Given the description of an element on the screen output the (x, y) to click on. 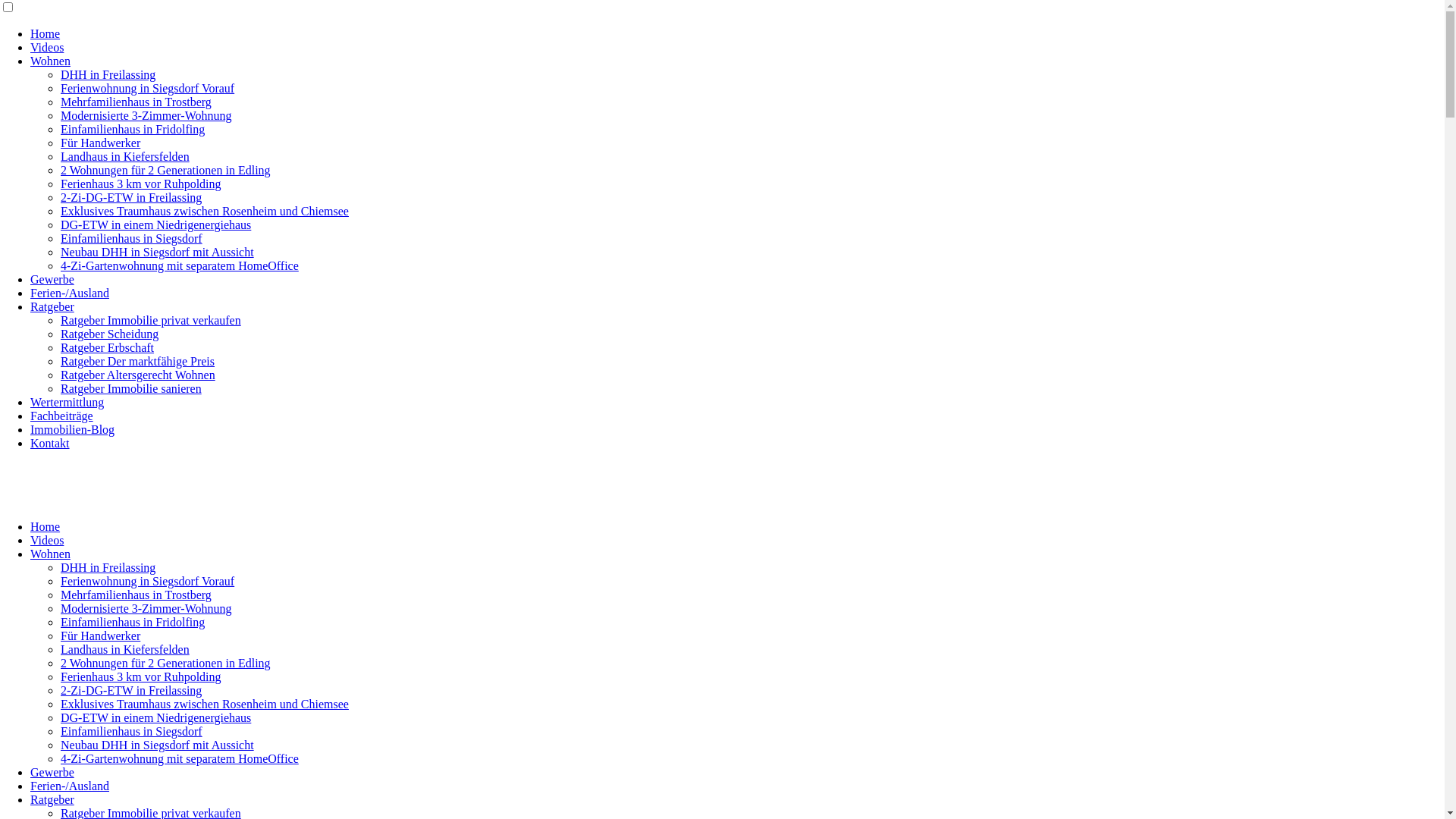
Immobilien-Blog Element type: text (72, 429)
Home Element type: text (44, 526)
Ferien-/Ausland Element type: text (69, 292)
Ratgeber Immobilie sanieren Element type: text (130, 388)
Ratgeber Element type: text (52, 799)
Ferienwohnung in Siegsdorf Vorauf Element type: text (147, 87)
Landhaus in Kiefersfelden Element type: text (124, 156)
Gewerbe Element type: text (52, 279)
DHH in Freilassing Element type: text (107, 74)
Wertermittlung Element type: text (66, 401)
Exklusives Traumhaus zwischen Rosenheim und Chiemsee Element type: text (204, 210)
Einfamilienhaus in Siegsdorf Element type: text (131, 238)
Neubau DHH in Siegsdorf mit Aussicht Element type: text (157, 744)
Neubau DHH in Siegsdorf mit Aussicht Element type: text (157, 251)
Landhaus in Kiefersfelden Element type: text (124, 649)
Gewerbe Element type: text (52, 771)
Ferienwohnung in Siegsdorf Vorauf Element type: text (147, 580)
Einfamilienhaus in Siegsdorf Element type: text (131, 730)
Videos Element type: text (46, 539)
Mehrfamilienhaus in Trostberg Element type: text (135, 101)
4-Zi-Gartenwohnung mit separatem HomeOffice Element type: text (179, 265)
DG-ETW in einem Niedrigenergiehaus Element type: text (155, 717)
Ratgeber Immobilie privat verkaufen Element type: text (150, 319)
Einfamilienhaus in Fridolfing Element type: text (132, 621)
Ratgeber Altersgerecht Wohnen Element type: text (137, 374)
Exklusives Traumhaus zwischen Rosenheim und Chiemsee Element type: text (204, 703)
Ferienhaus 3 km vor Ruhpolding Element type: text (140, 183)
4-Zi-Gartenwohnung mit separatem HomeOffice Element type: text (179, 758)
Kontakt Element type: text (49, 442)
Modernisierte 3-Zimmer-Wohnung Element type: text (145, 608)
Ferienhaus 3 km vor Ruhpolding Element type: text (140, 676)
Einfamilienhaus in Fridolfing Element type: text (132, 128)
DG-ETW in einem Niedrigenergiehaus Element type: text (155, 224)
2-Zi-DG-ETW in Freilassing Element type: text (130, 197)
Mehrfamilienhaus in Trostberg Element type: text (135, 594)
Wohnen Element type: text (50, 60)
Wohnen Element type: text (50, 553)
Home Element type: text (44, 33)
2-Zi-DG-ETW in Freilassing Element type: text (130, 690)
Ratgeber Scheidung Element type: text (109, 333)
Modernisierte 3-Zimmer-Wohnung Element type: text (145, 115)
Ratgeber Erbschaft Element type: text (106, 347)
Ferien-/Ausland Element type: text (69, 785)
Videos Element type: text (46, 46)
DHH in Freilassing Element type: text (107, 567)
Ratgeber Element type: text (52, 306)
